Given the description of an element on the screen output the (x, y) to click on. 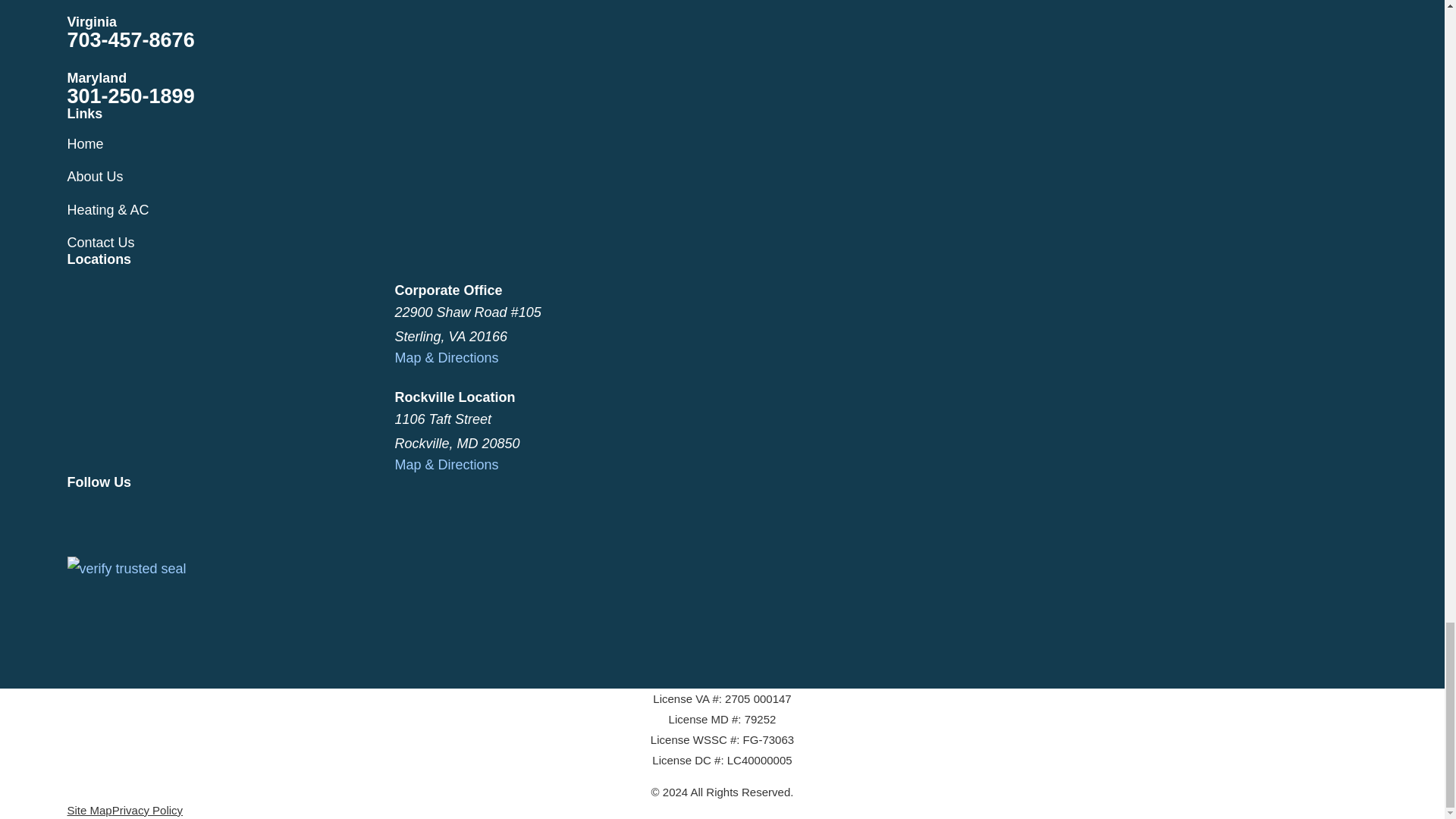
Twitter (115, 512)
Facebook (75, 512)
LinkedIn (195, 512)
Google Business Profile (156, 512)
